Given the description of an element on the screen output the (x, y) to click on. 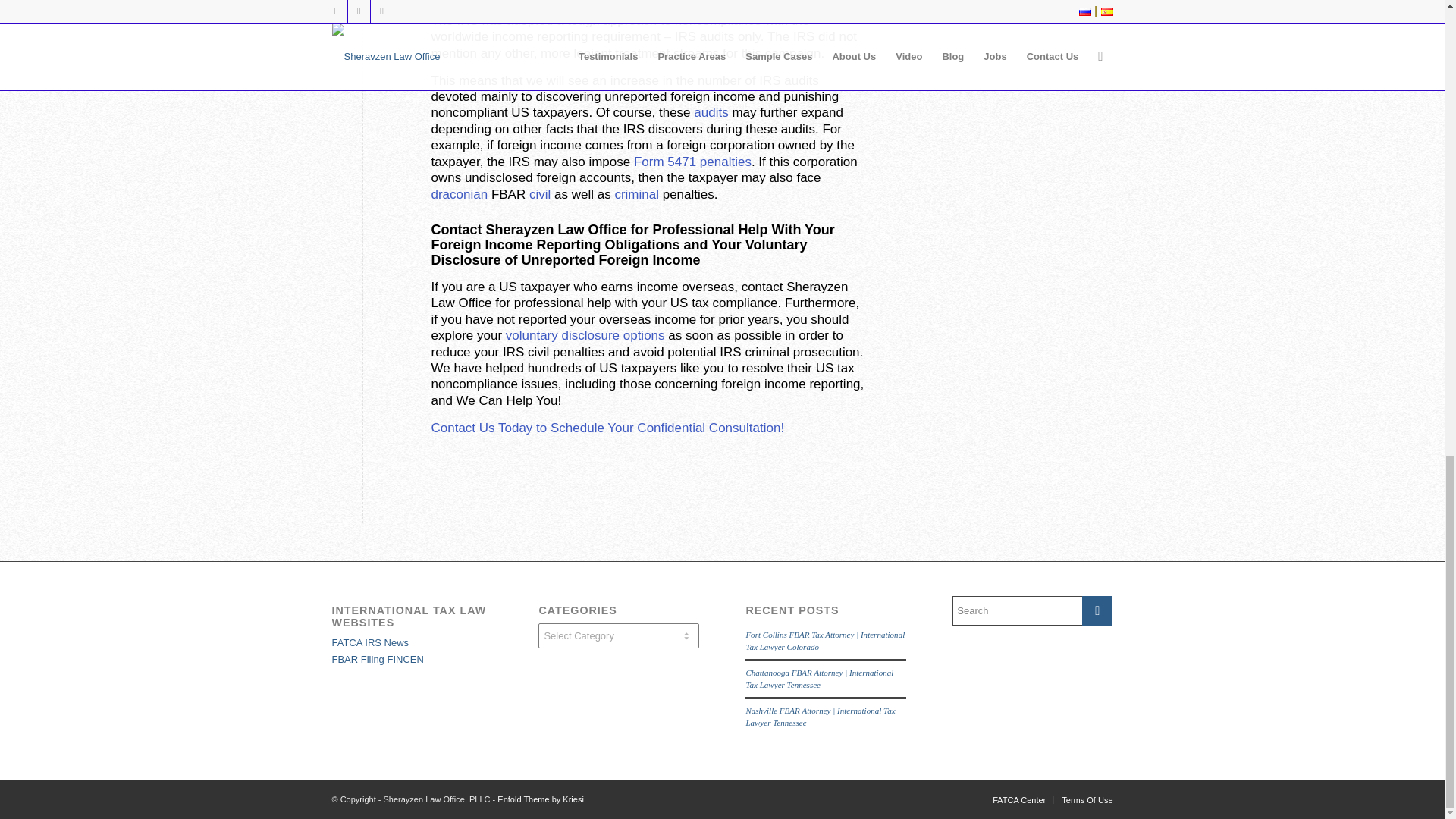
audits (711, 112)
Form 5471 penalties (692, 161)
IRS official FATCA news website (370, 642)
FBAR filing FinCEN (377, 659)
